Given the description of an element on the screen output the (x, y) to click on. 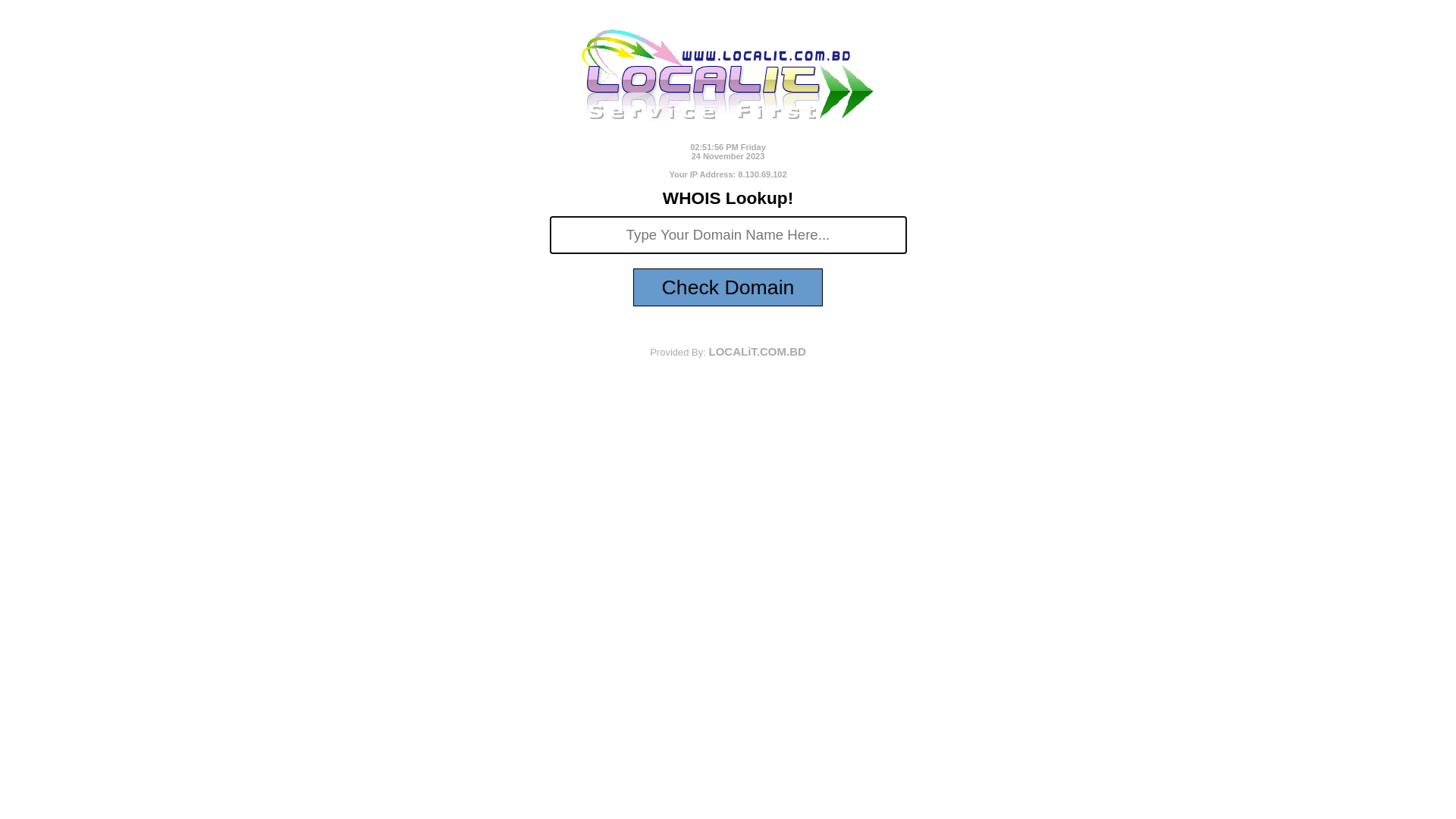
WWW.LOCALiT.COM.BD Element type: hover (727, 127)
LOCALiT.COM.BD Element type: text (756, 351)
8.130.69.102 Element type: text (761, 173)
Check Domain Element type: text (727, 287)
